Given the description of an element on the screen output the (x, y) to click on. 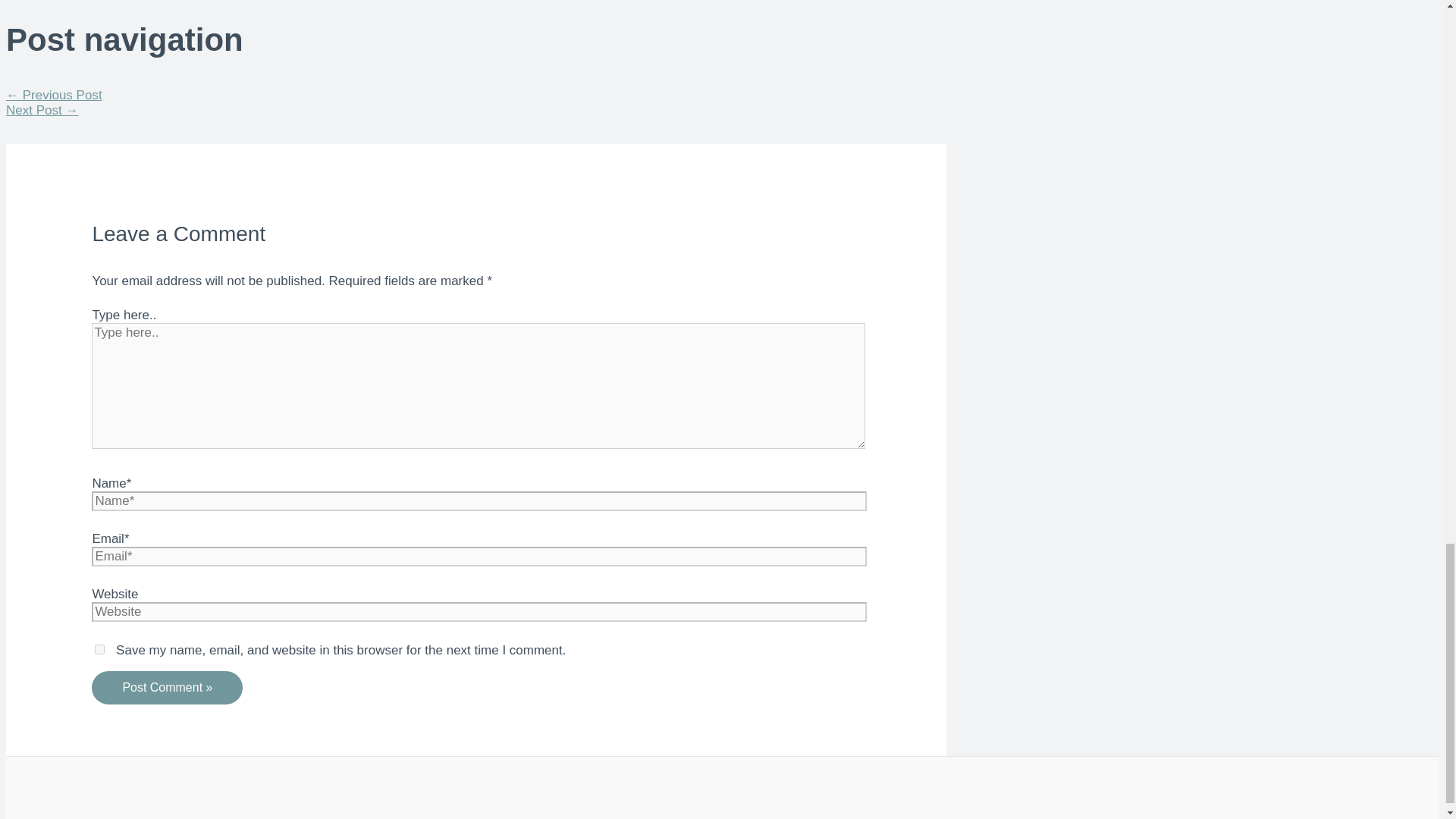
yes (99, 649)
